Given the description of an element on the screen output the (x, y) to click on. 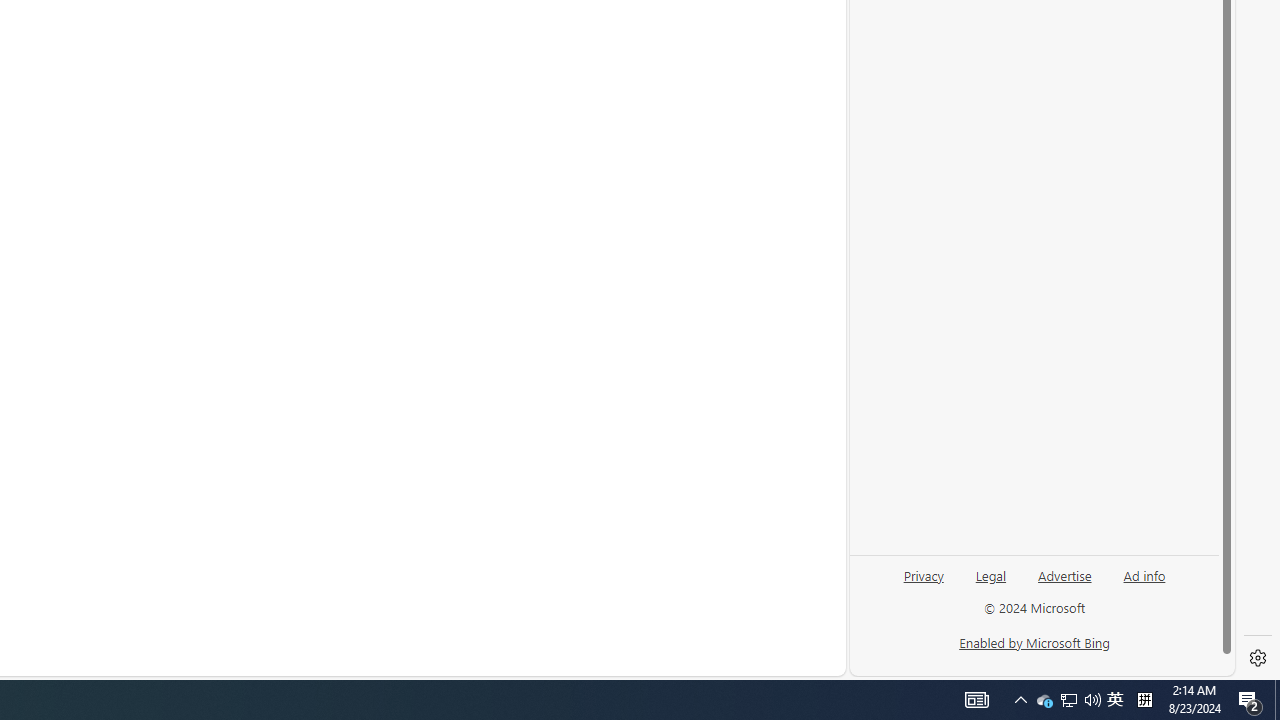
Ad info (1144, 583)
Privacy (923, 574)
Legal (990, 583)
Advertise (1064, 583)
Legal (991, 574)
Privacy (923, 583)
Ad info (1144, 574)
Advertise (1064, 574)
